Given the description of an element on the screen output the (x, y) to click on. 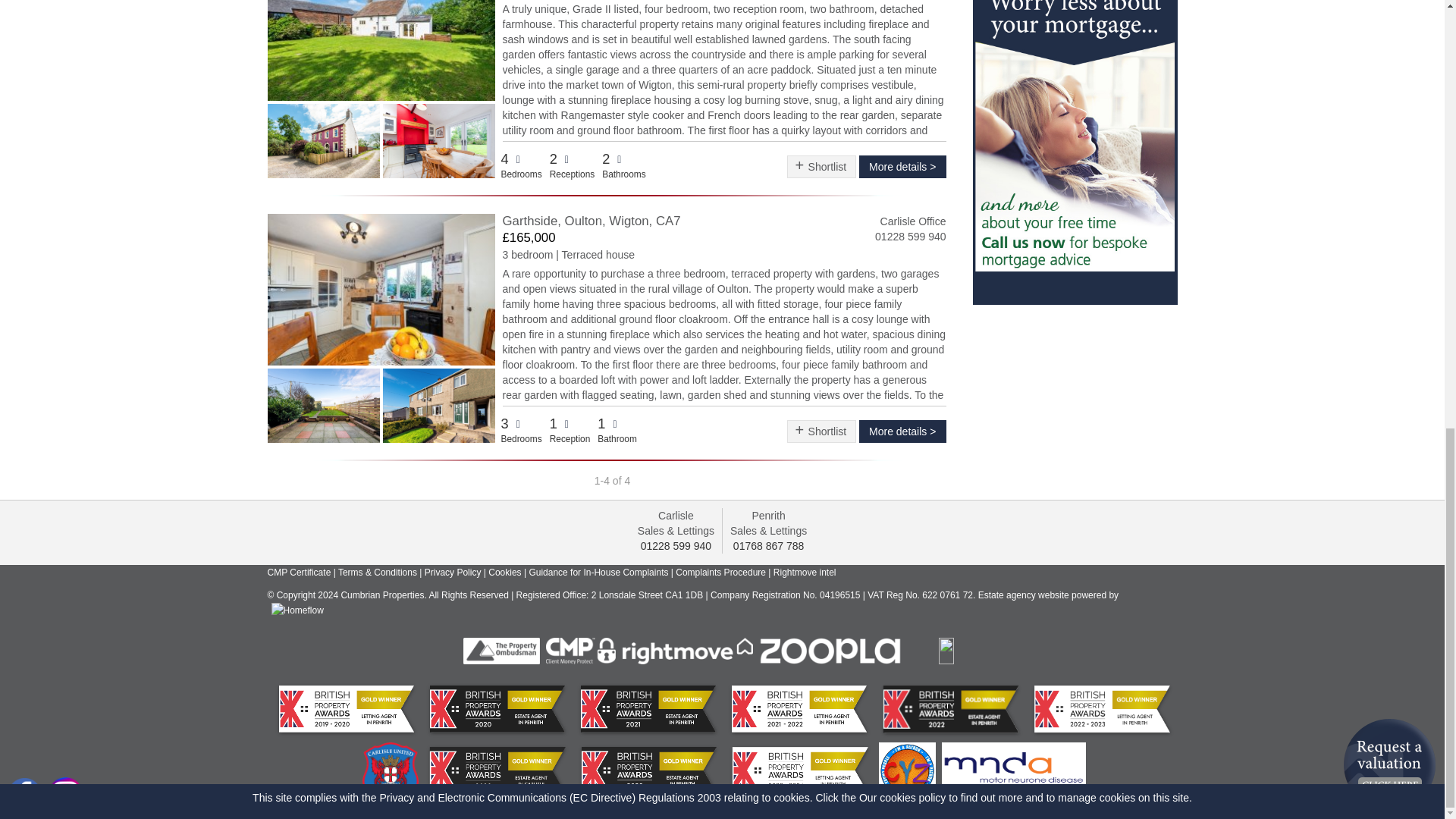
Estate agency website design (1049, 594)
Mortgage Advice (1074, 143)
